Given the description of an element on the screen output the (x, y) to click on. 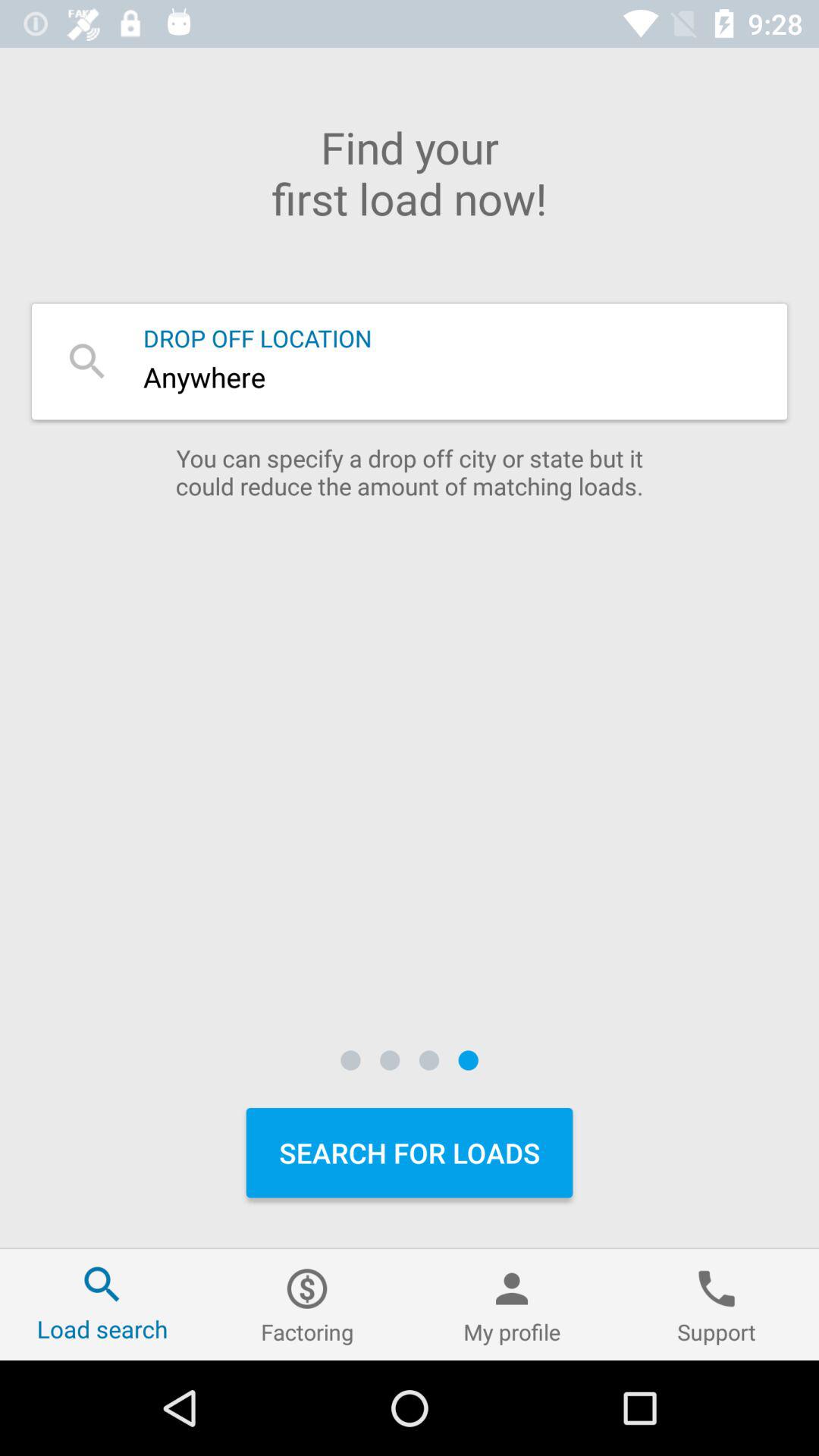
select the item to the left of the support (511, 1304)
